Given the description of an element on the screen output the (x, y) to click on. 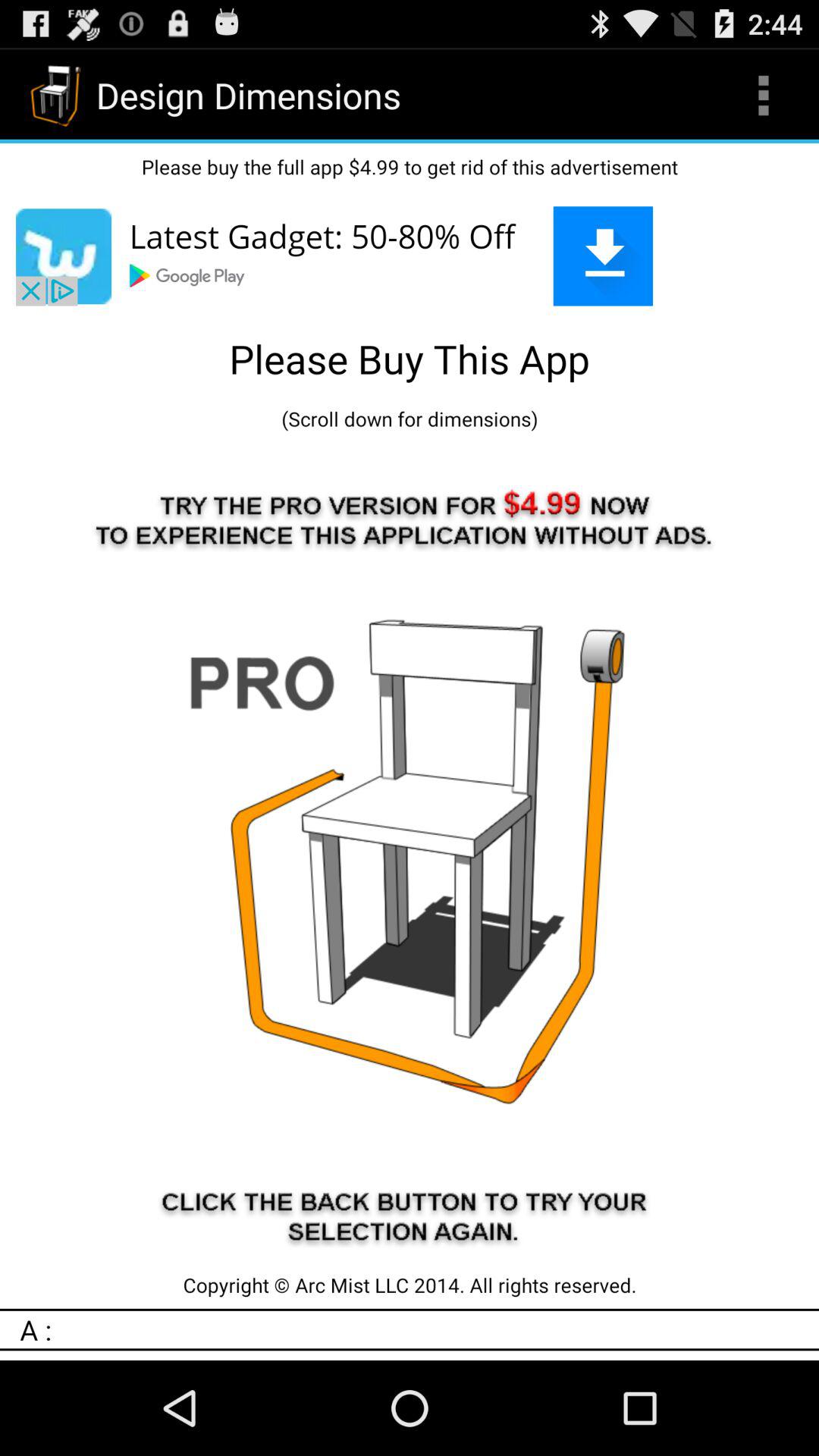
launch icon below copyright arc mist (419, 1329)
